Given the description of an element on the screen output the (x, y) to click on. 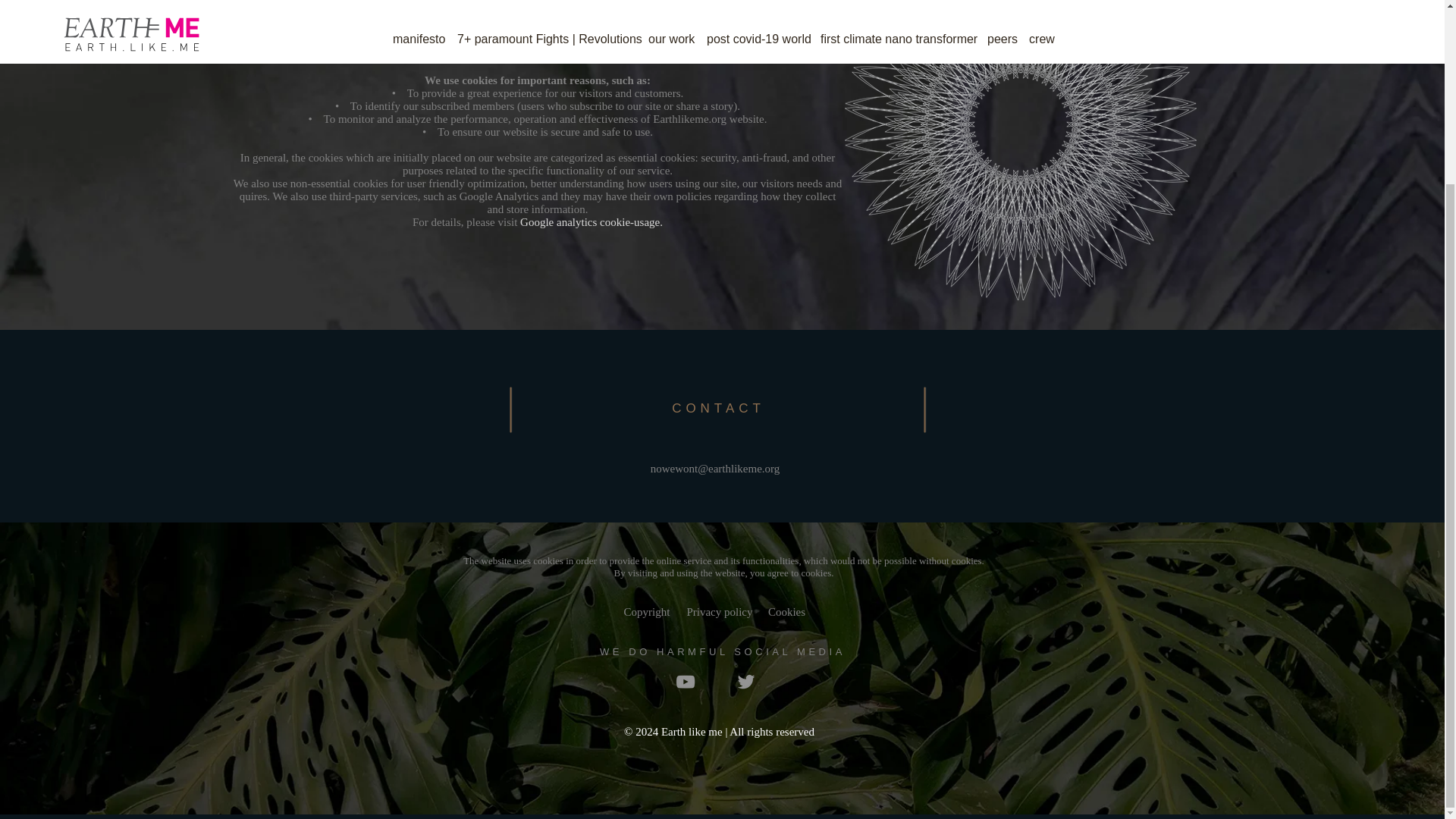
WE DO HARMFUL SOCIAL MEDIA (722, 651)
Google analytics cookie-usage. (590, 222)
Copyright (646, 612)
Cookies (786, 612)
Privacy policy (718, 612)
